Given the description of an element on the screen output the (x, y) to click on. 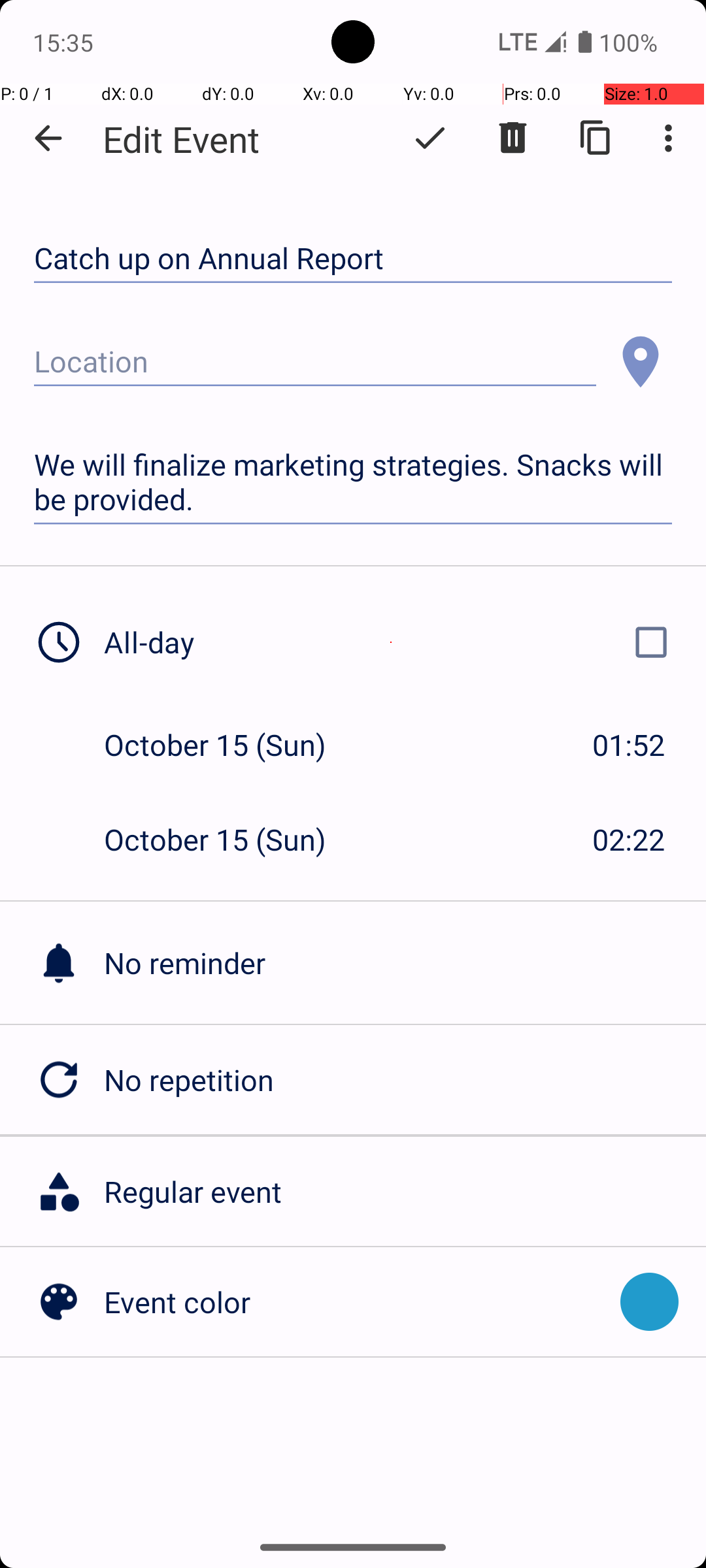
We will finalize marketing strategies. Snacks will be provided. Element type: android.widget.EditText (352, 482)
01:52 Element type: android.widget.TextView (628, 744)
02:22 Element type: android.widget.TextView (628, 838)
